Given the description of an element on the screen output the (x, y) to click on. 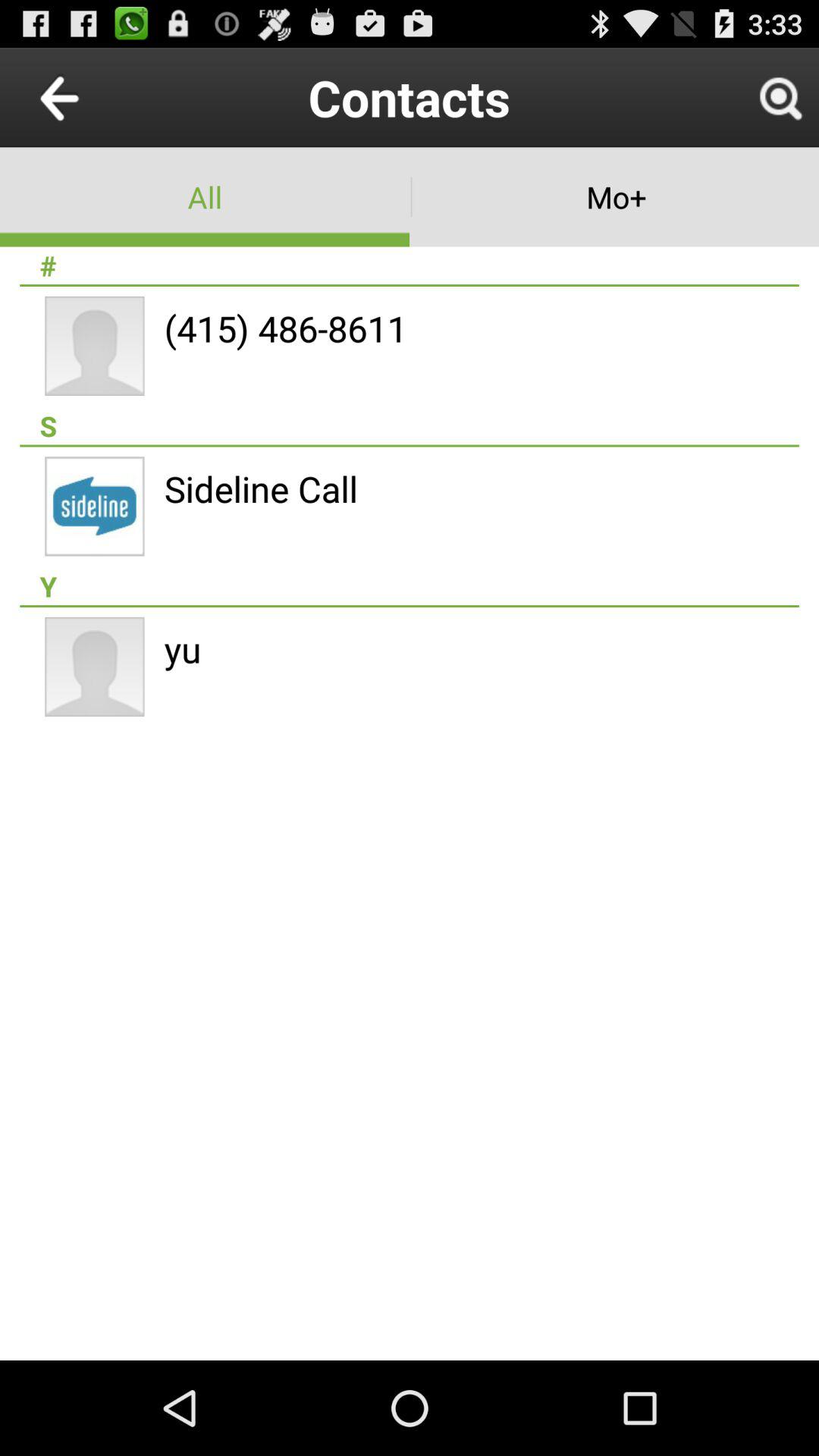
launch item above mo+ (779, 97)
